Given the description of an element on the screen output the (x, y) to click on. 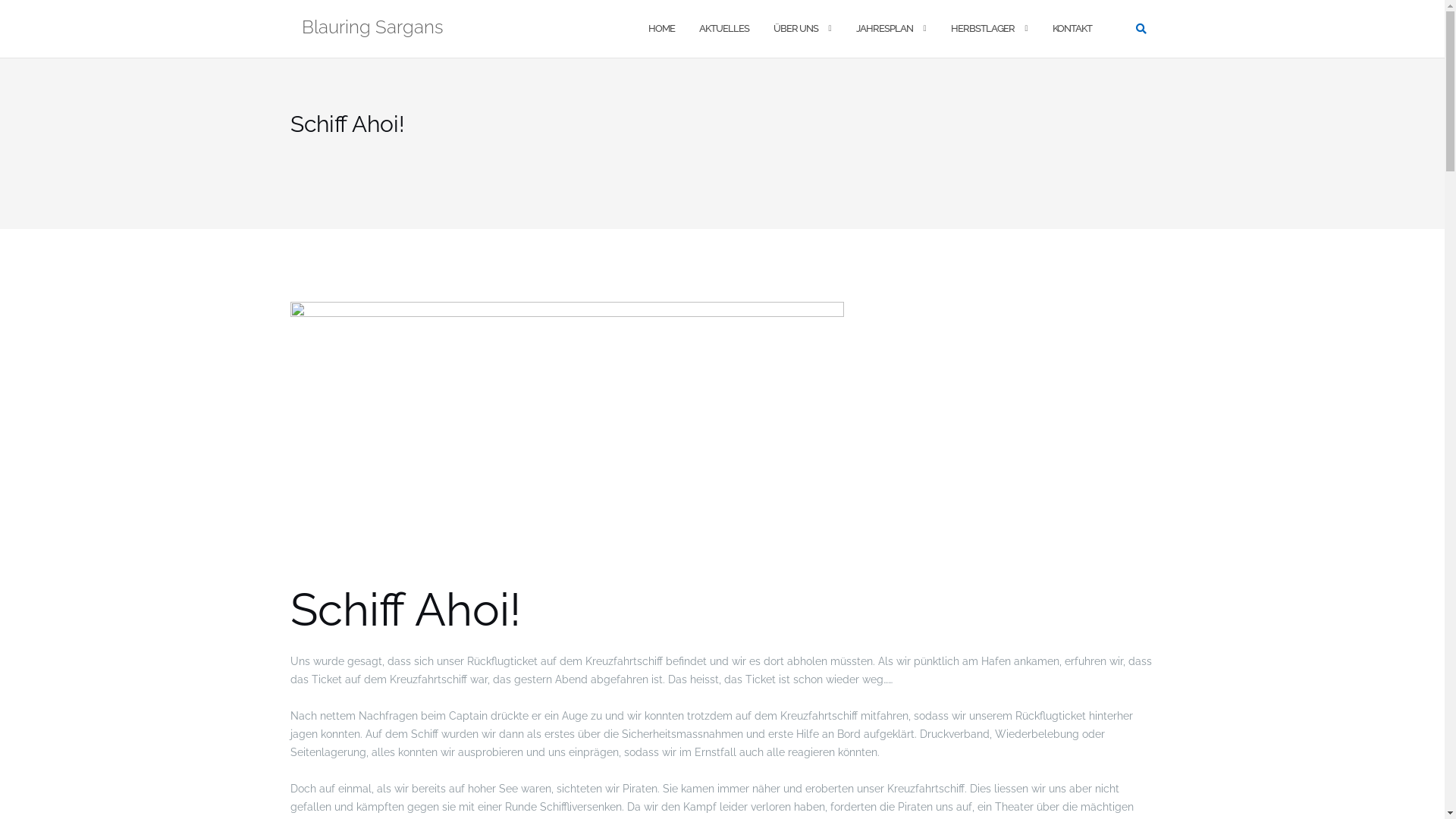
Schiff Ahoi! Element type: hover (566, 442)
HOME Element type: text (660, 28)
JAHRESPLAN Element type: text (883, 28)
AKTUELLES Element type: text (724, 28)
Blauring Sargans Element type: text (372, 28)
KONTAKT Element type: text (1072, 28)
HERBSTLAGER Element type: text (982, 28)
